Given the description of an element on the screen output the (x, y) to click on. 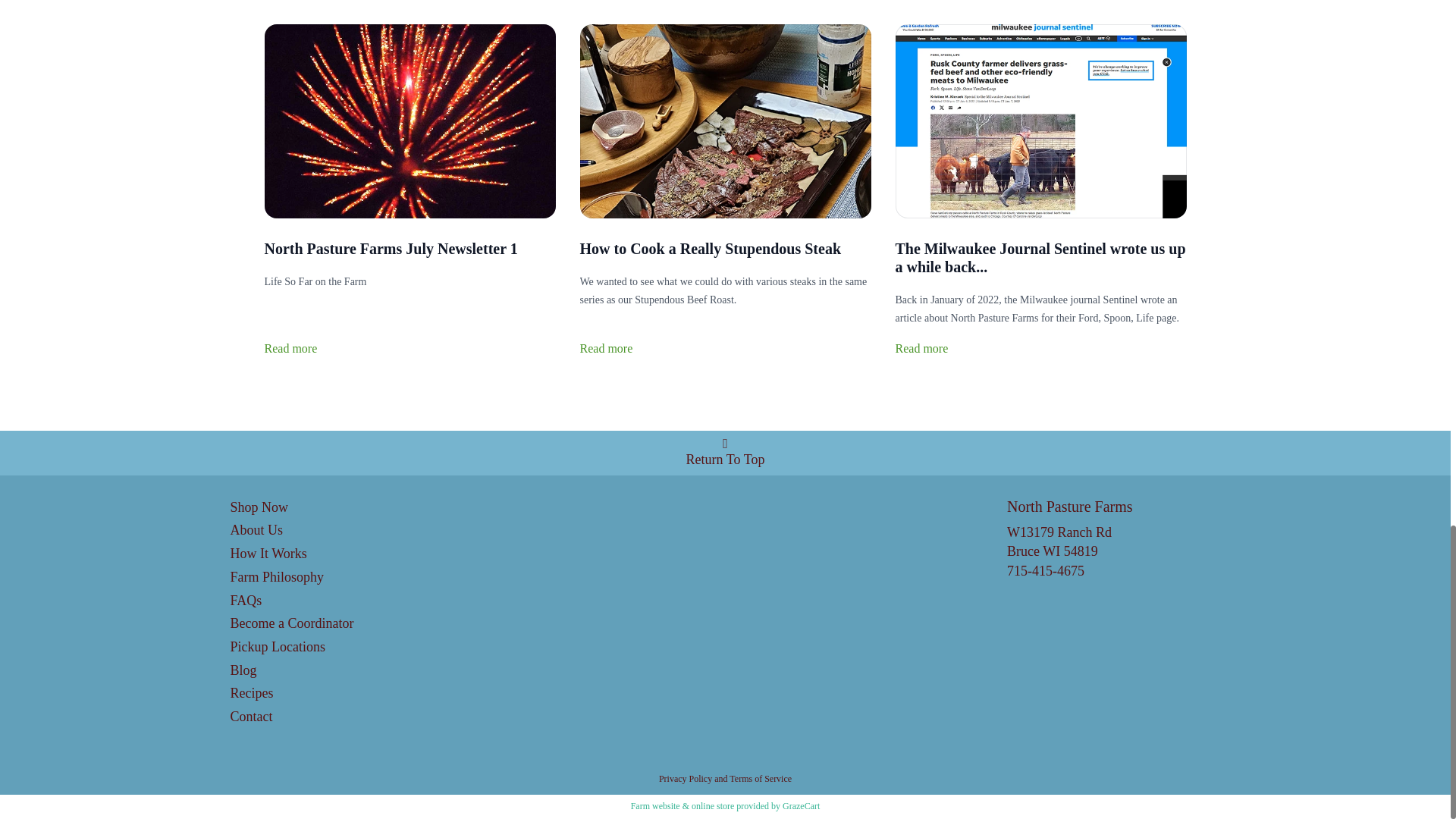
The Milwaukee Journal Sentinel wrote us up a while back... (1040, 257)
Read more (290, 348)
Read more (605, 348)
North Pasture Farms July Newsletter 1 (389, 248)
How to Cook a Really Stupendous Steak (710, 248)
Return To Top (724, 452)
Read more (921, 348)
